Given the description of an element on the screen output the (x, y) to click on. 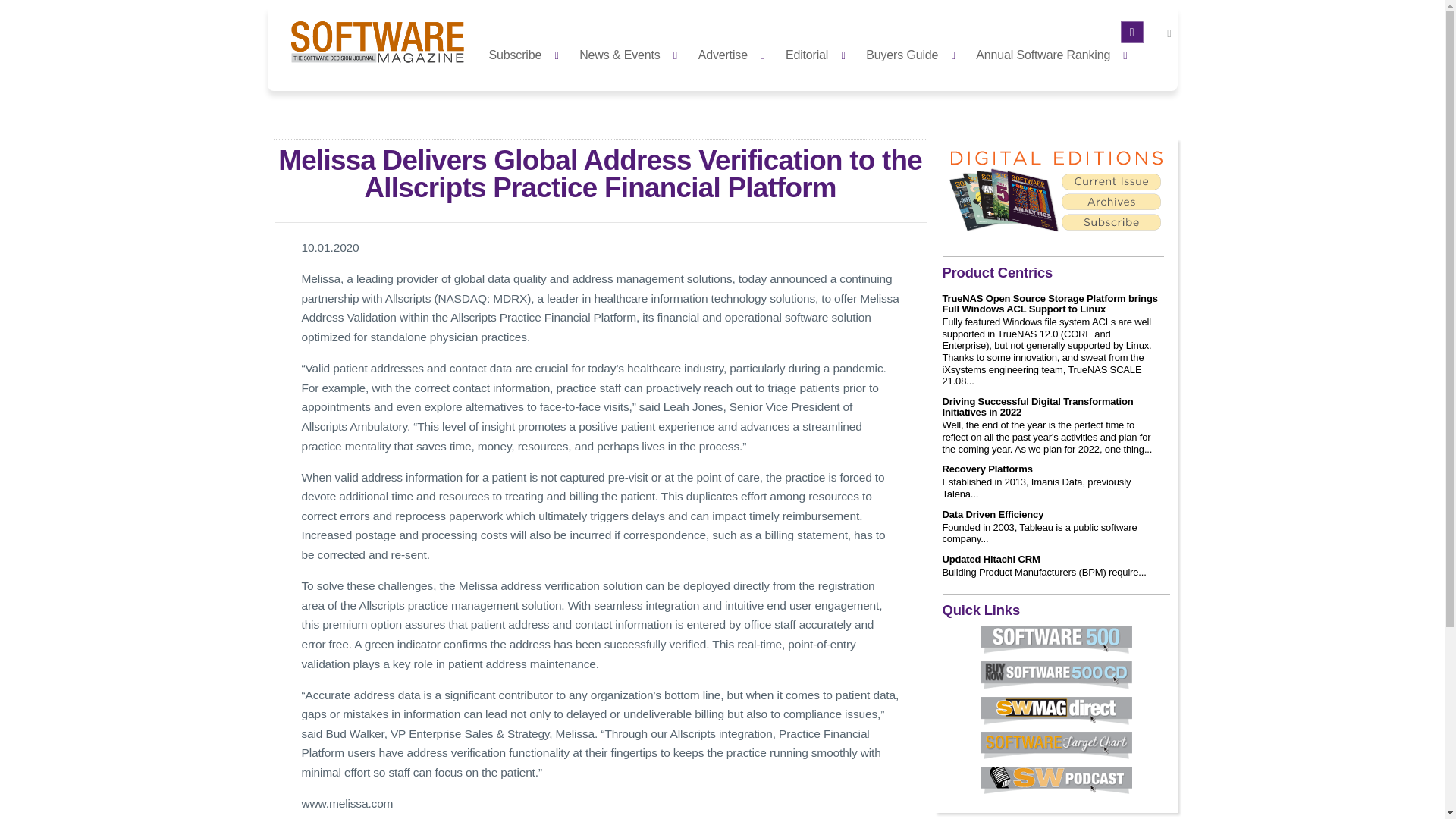
Data Driven Efficiency (992, 514)
Advertise (735, 53)
Annual Software Ranking (1056, 53)
Recovery Platforms (987, 469)
Buyers Guide (915, 53)
Subscribe (527, 53)
Updated Hitachi CRM (990, 559)
Editorial (819, 53)
